Given the description of an element on the screen output the (x, y) to click on. 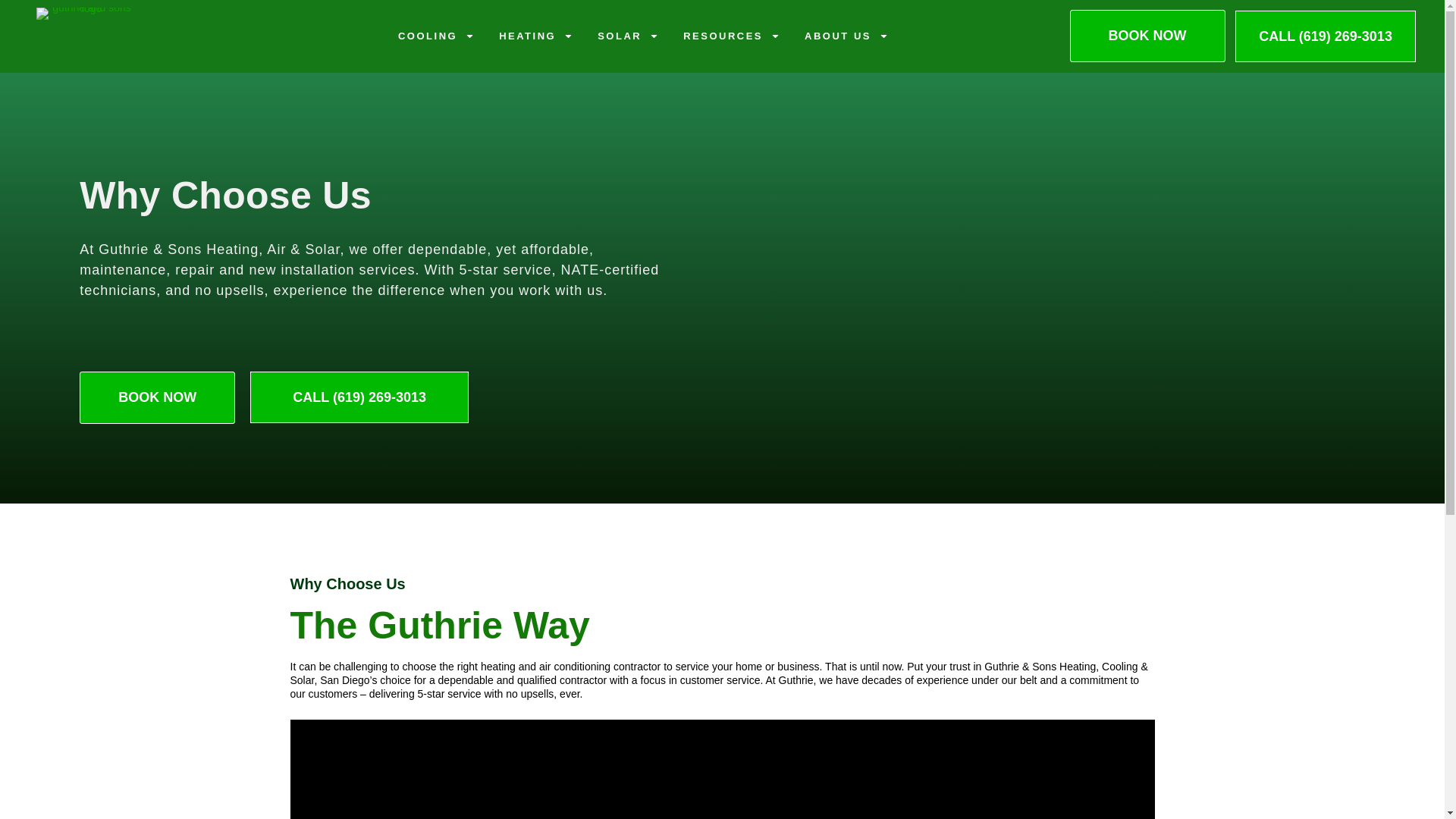
RESOURCES (731, 36)
ABOUT US (846, 36)
HEATING (536, 36)
COOLING (435, 36)
SOLAR (627, 36)
